Given the description of an element on the screen output the (x, y) to click on. 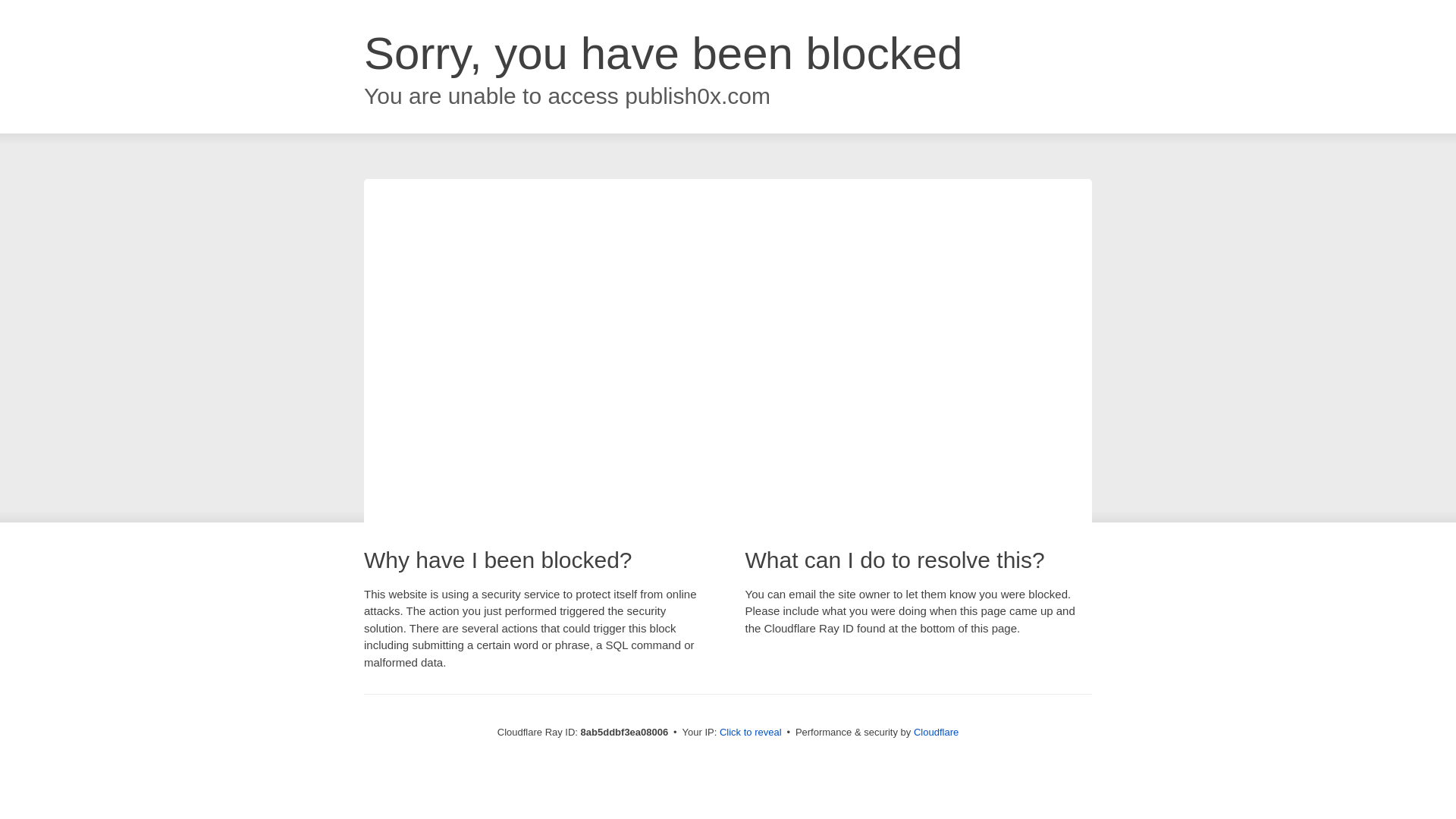
Cloudflare (936, 731)
Click to reveal (750, 732)
